Given the description of an element on the screen output the (x, y) to click on. 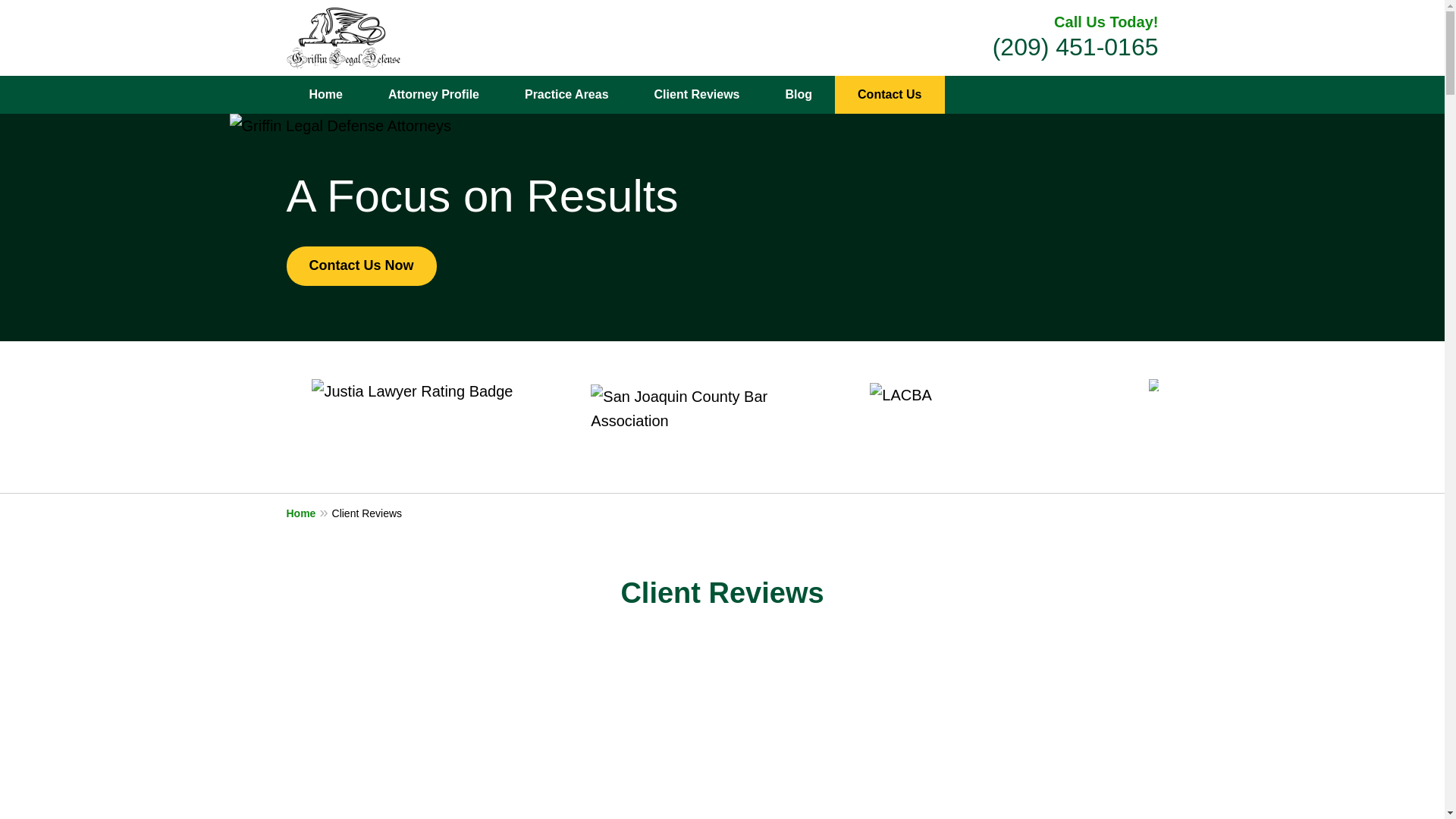
Blog (798, 94)
Home (325, 94)
Attorney Profile (433, 94)
Practice Areas (566, 94)
Contact Us Now (361, 265)
Client Reviews (696, 94)
Home (308, 513)
Call Us Today! (1105, 21)
Contact Us (888, 94)
